Given the description of an element on the screen output the (x, y) to click on. 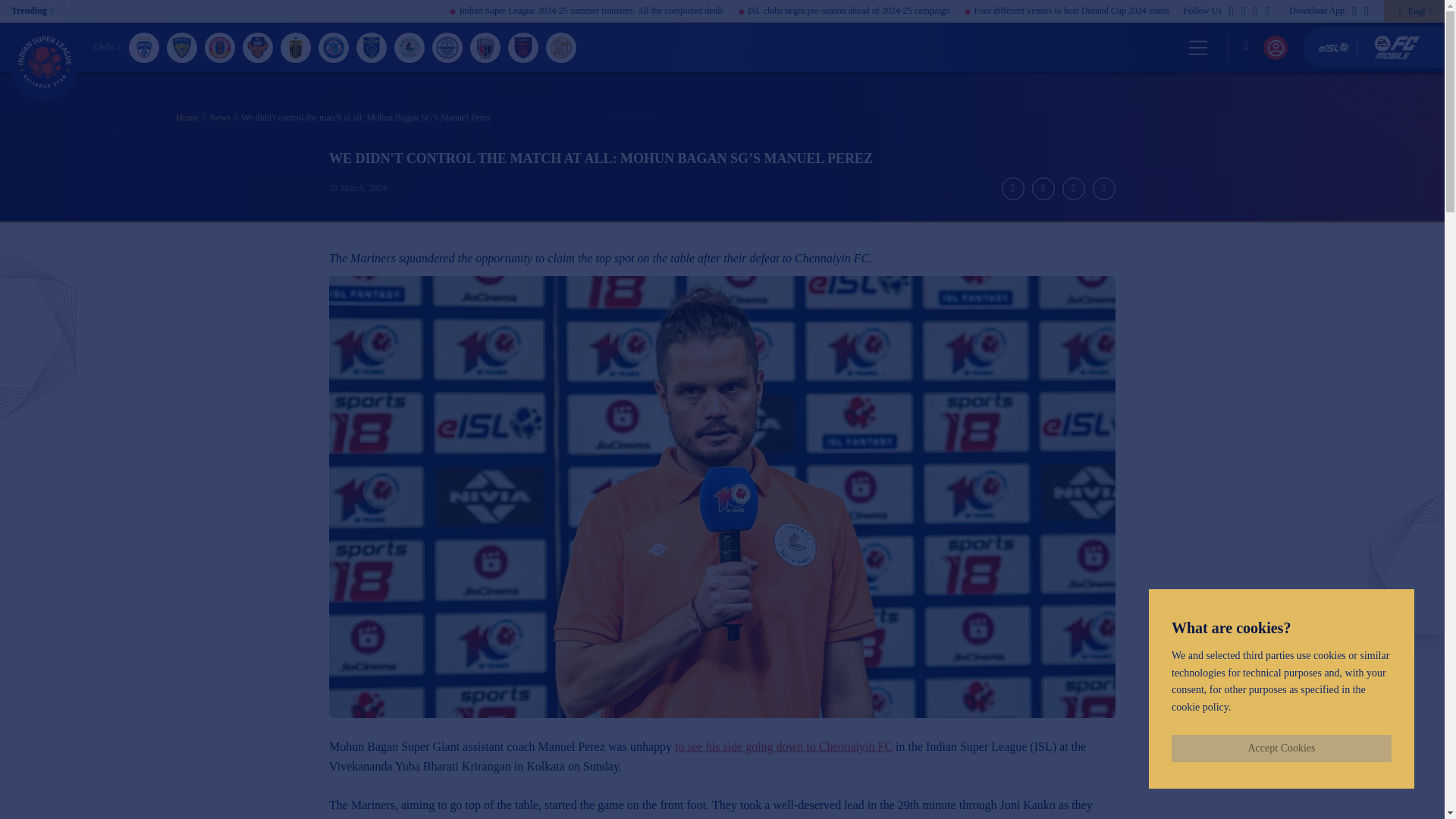
MENU (1197, 47)
Kerala Blasters FC (371, 46)
Hyderabad FC (296, 46)
Chennaiyin FC (181, 46)
ISL clubs begin pre-season ahead of 2024-25 campaign (930, 11)
logo (44, 62)
Jamshedpur FC (333, 46)
YouTube (1267, 12)
NorthEast United FC (485, 46)
Punjab FC (561, 46)
Twitter (1243, 12)
ISLW (44, 62)
Odisha FC (523, 46)
East Bengal FC (219, 46)
